Given the description of an element on the screen output the (x, y) to click on. 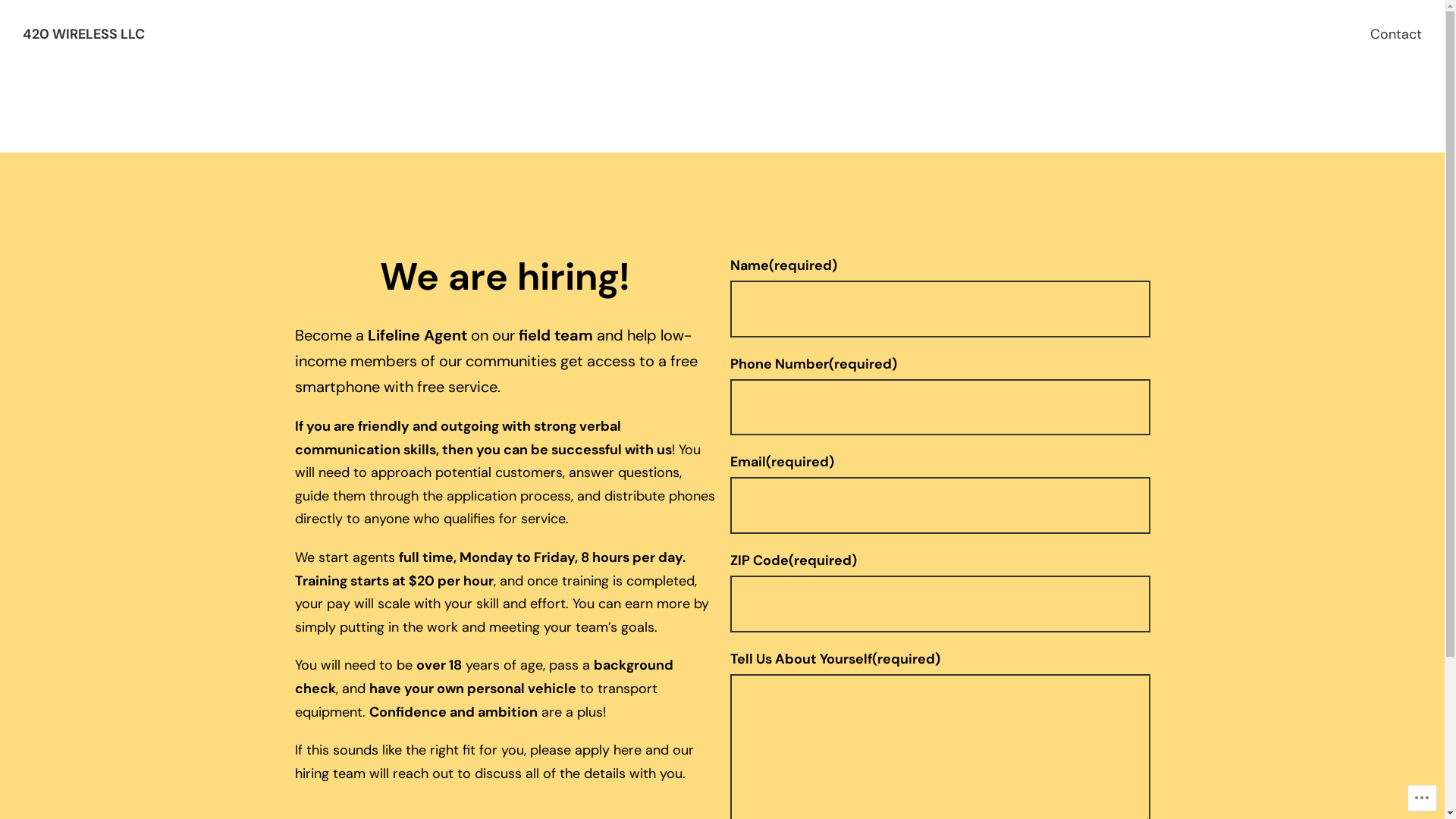
420 WIRELESS LLC Element type: text (83, 33)
Contact Element type: text (1395, 34)
